Given the description of an element on the screen output the (x, y) to click on. 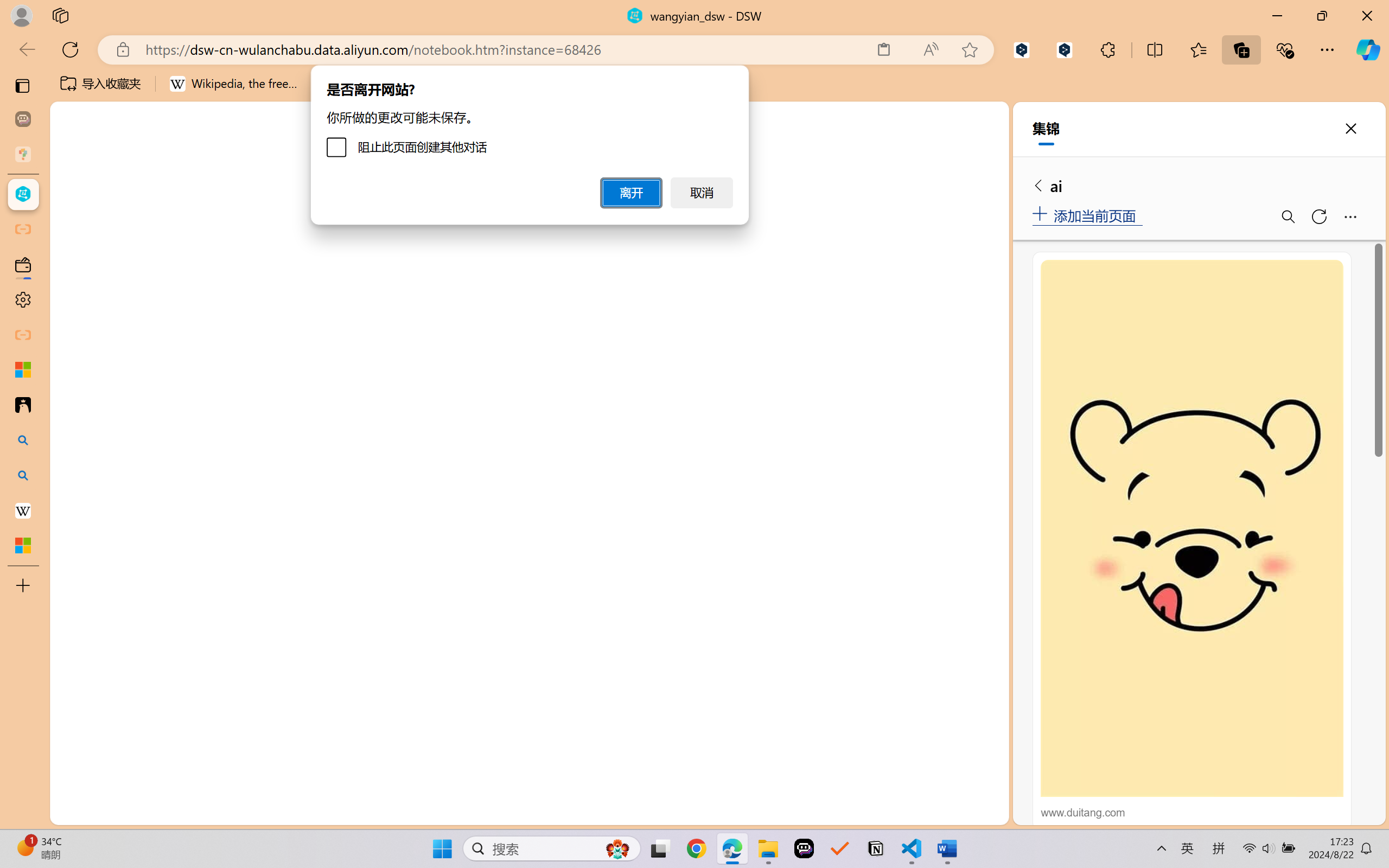
Title actions (957, 159)
Class: next-menu next-hoz widgets--iconMenu--BFkiHRM (930, 121)
remote (66, 812)
Toggle Panel (Ctrl+J) (944, 159)
Toggle Secondary Side Bar (Ctrl+Alt+B) (969, 159)
Class: actions-container (974, 565)
Class: menubar compact overflow-menu-only inactive (73, 194)
icon (930, 121)
